Given the description of an element on the screen output the (x, y) to click on. 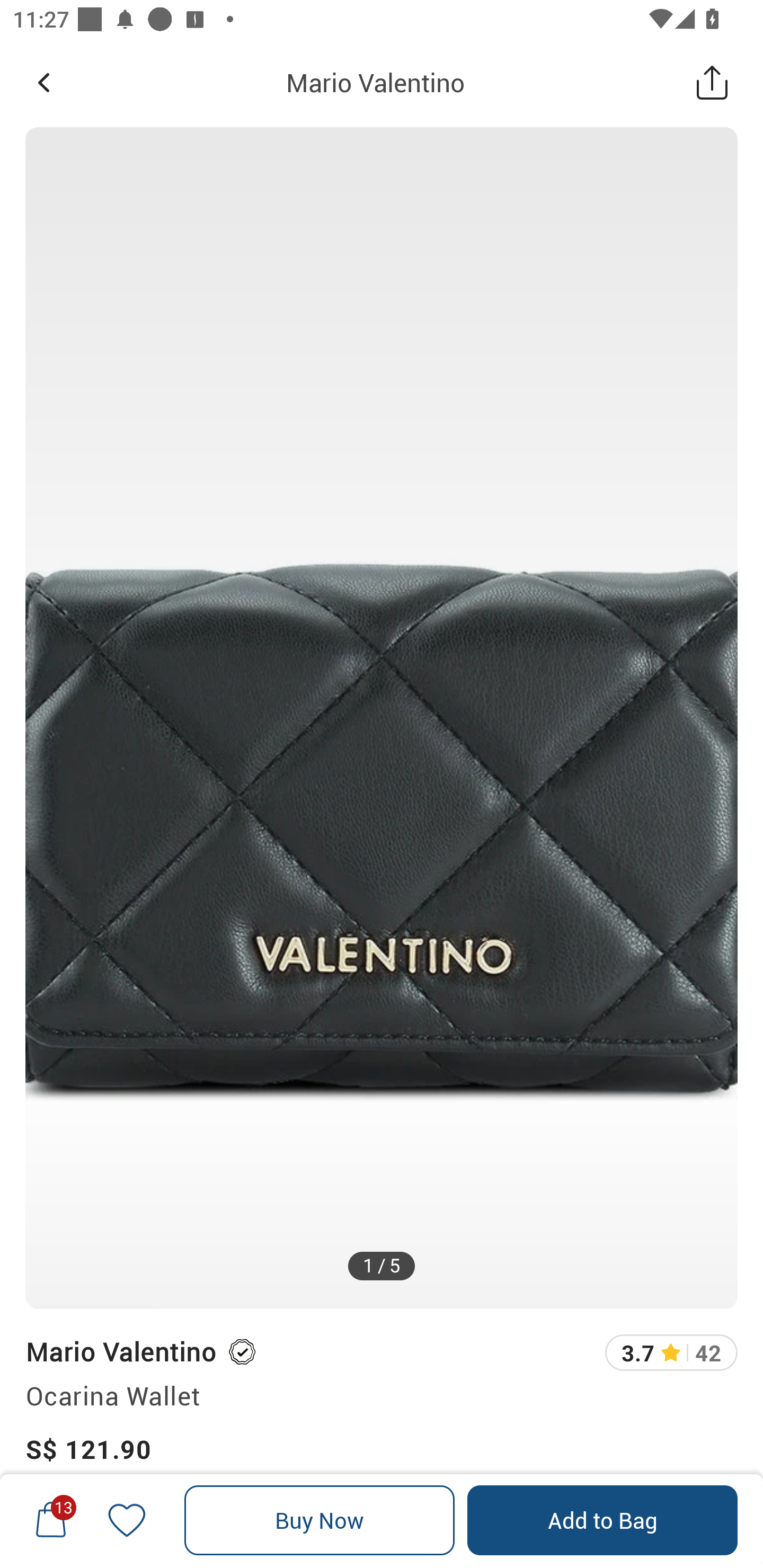
Mario Valentino (375, 82)
Share this Product (711, 82)
Mario Valentino (120, 1351)
3.7 42 (671, 1352)
Buy Now (319, 1519)
Add to Bag (601, 1519)
13 (50, 1520)
